Given the description of an element on the screen output the (x, y) to click on. 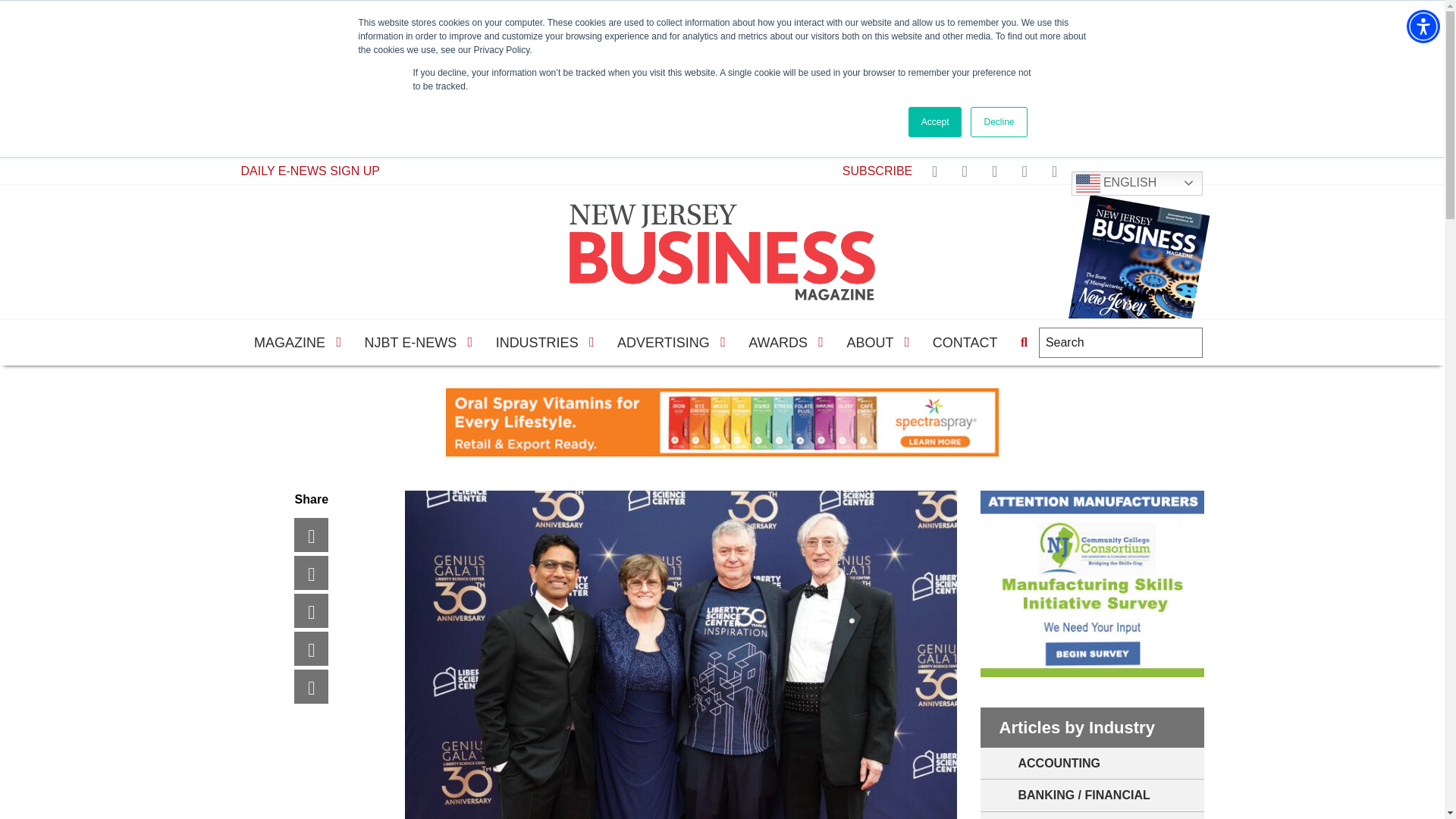
Facebook (325, 534)
Spectra Spray (721, 422)
Decline (998, 122)
Twitter (325, 572)
Accessibility Menu (1422, 26)
Accept (935, 122)
